Given the description of an element on the screen output the (x, y) to click on. 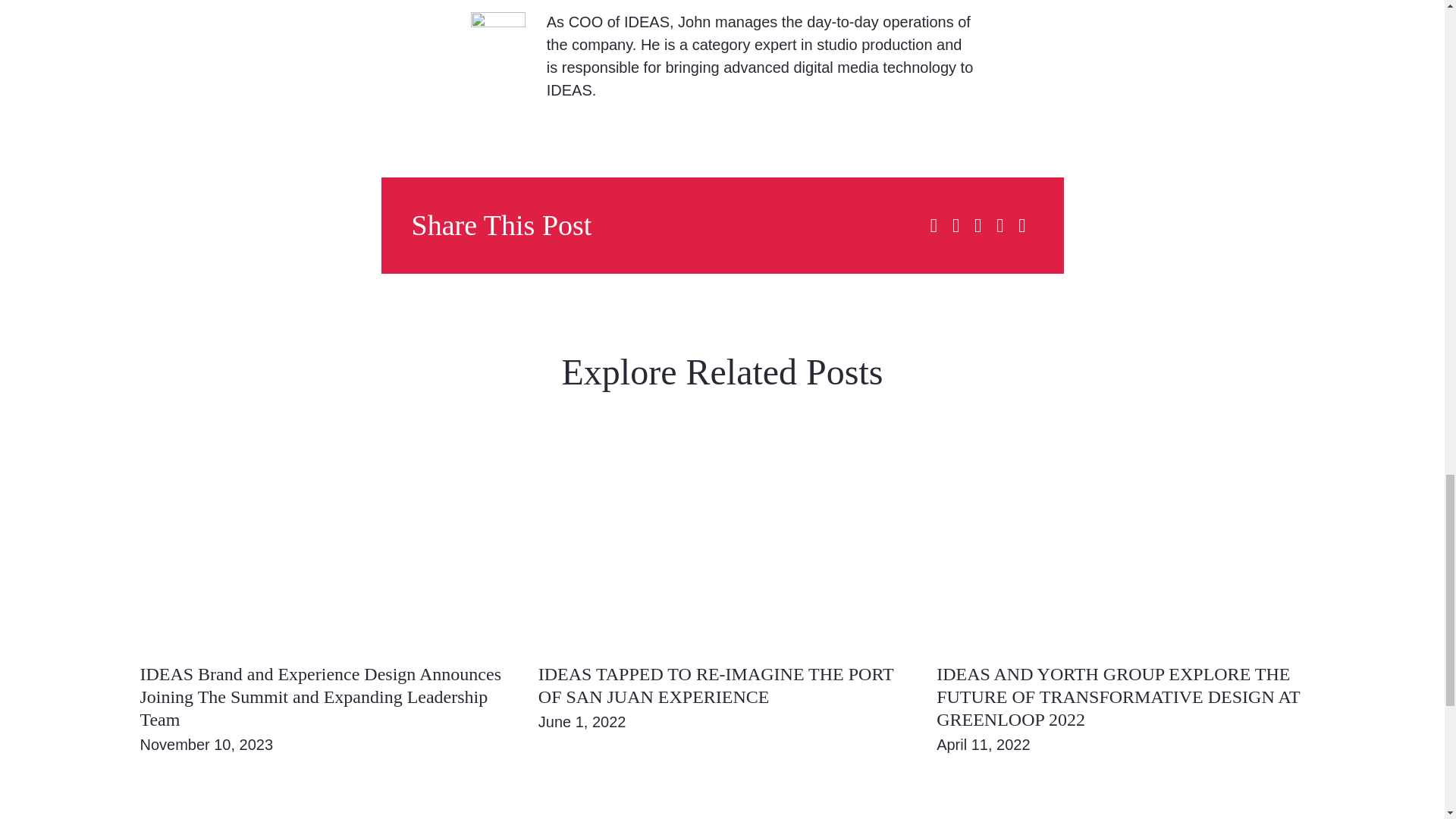
IDEAS TAPPED TO RE-IMAGINE THE PORT OF SAN JUAN EXPERIENCE (715, 685)
